Given the description of an element on the screen output the (x, y) to click on. 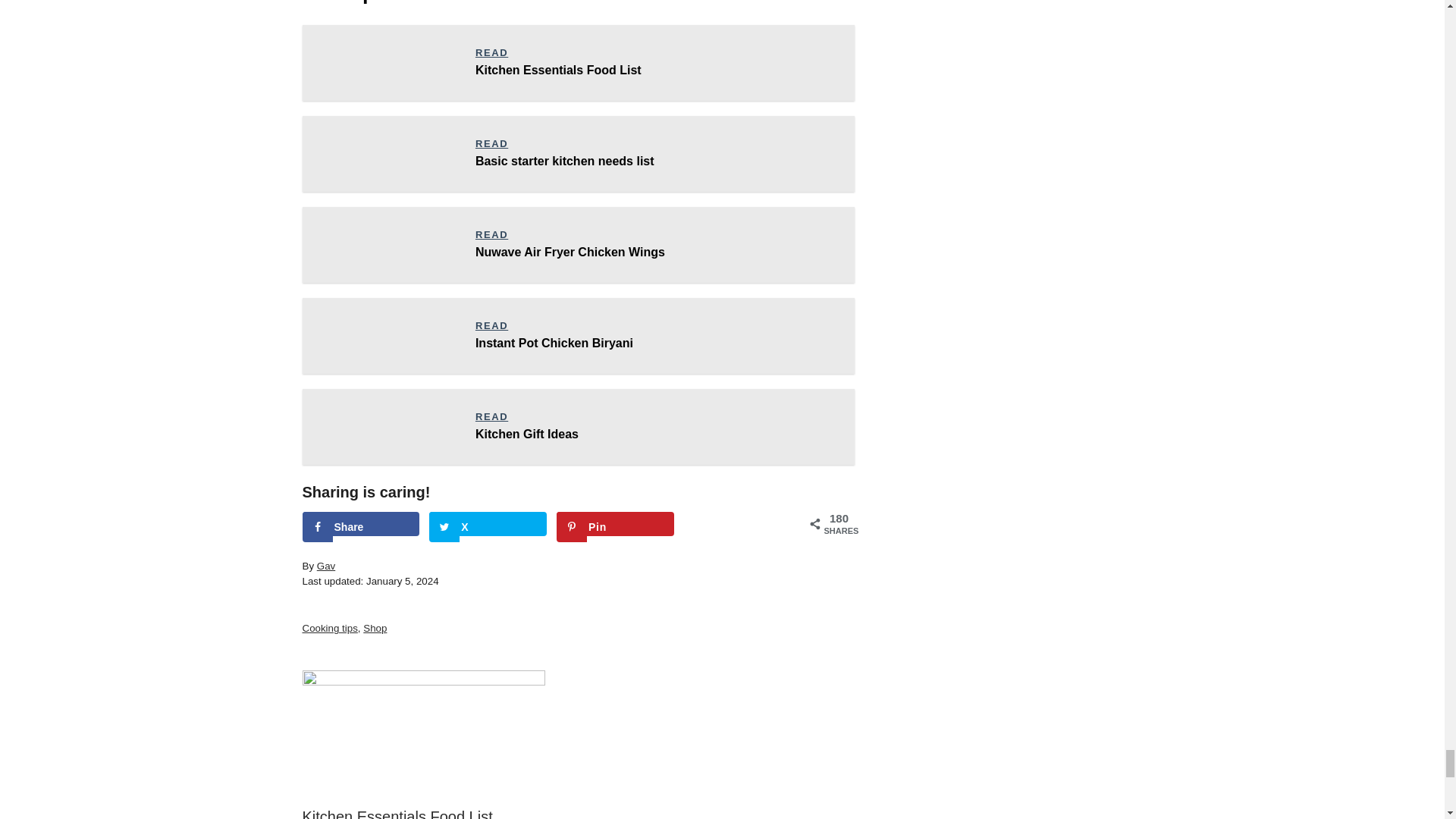
Share on Twitter (488, 523)
Save to Pinterest (615, 523)
Share on Facebook (360, 523)
